Given the description of an element on the screen output the (x, y) to click on. 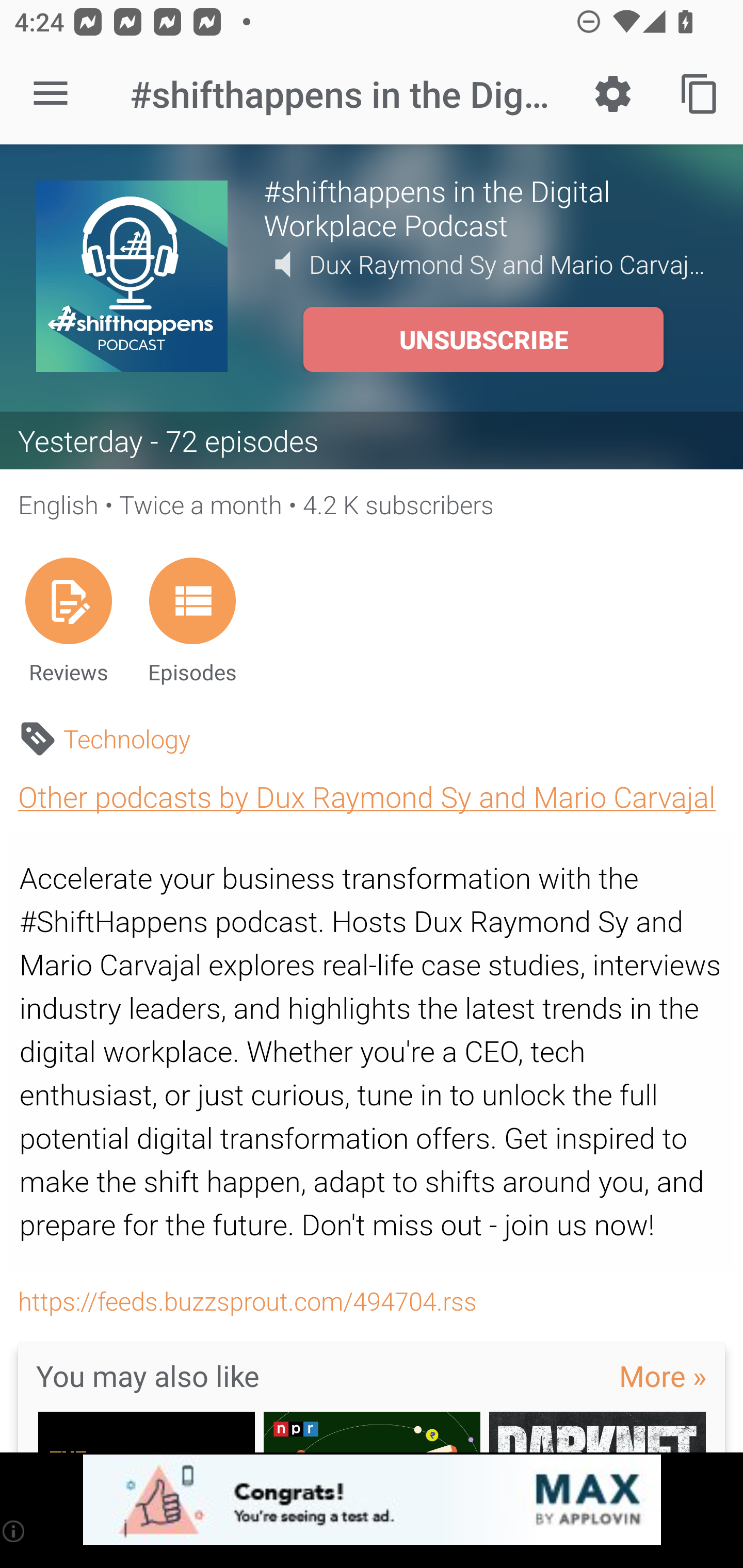
Open navigation sidebar (50, 93)
Settings (612, 93)
Copy feed url to clipboard (699, 93)
#shifthappens in the Digital Workplace Podcast (484, 207)
UNSUBSCRIBE (483, 339)
Reviews (68, 619)
Episodes (192, 619)
More » (662, 1375)
app-monetization (371, 1500)
(i) (14, 1531)
